Given the description of an element on the screen output the (x, y) to click on. 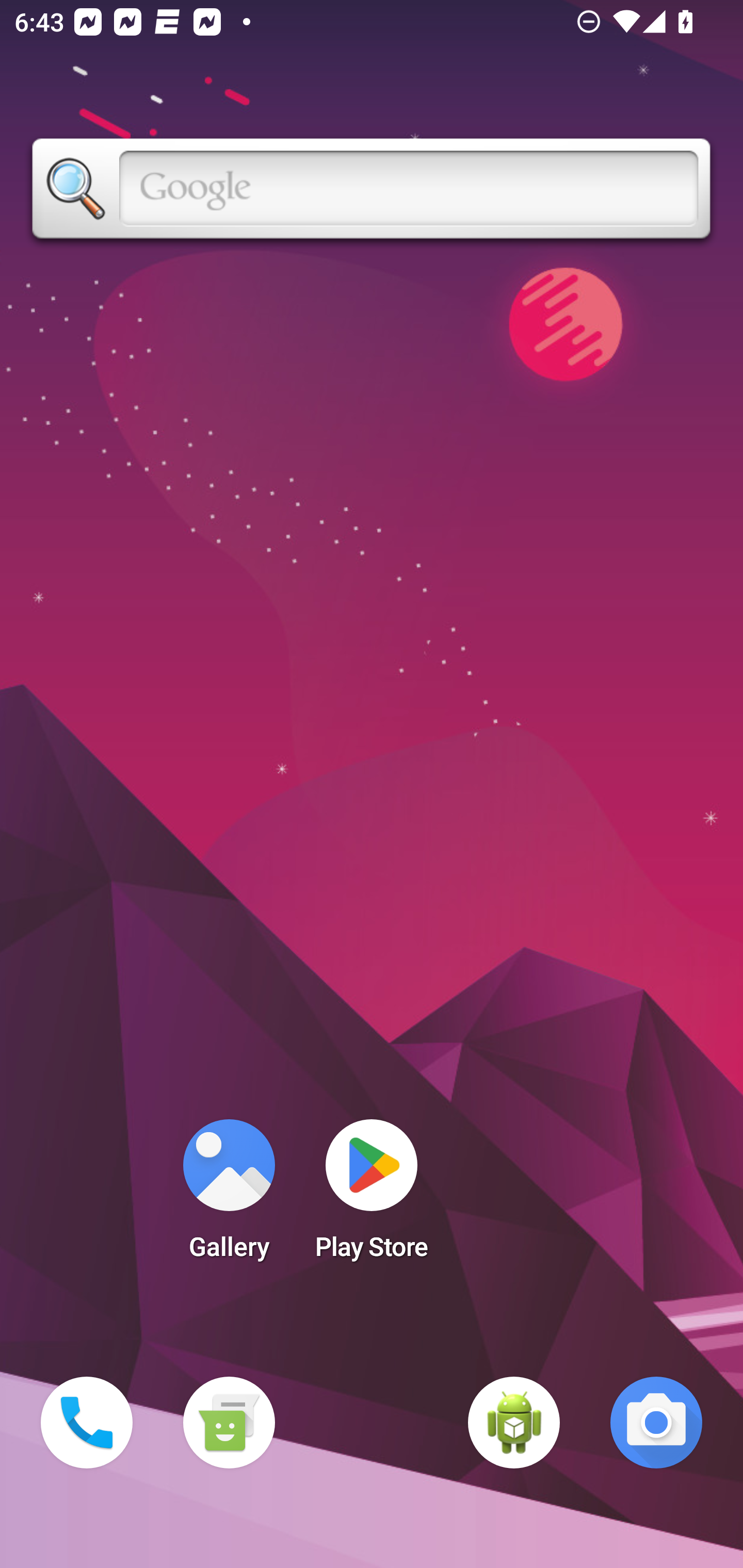
Gallery (228, 1195)
Play Store (371, 1195)
Phone (86, 1422)
Messaging (228, 1422)
WebView Browser Tester (513, 1422)
Camera (656, 1422)
